Given the description of an element on the screen output the (x, y) to click on. 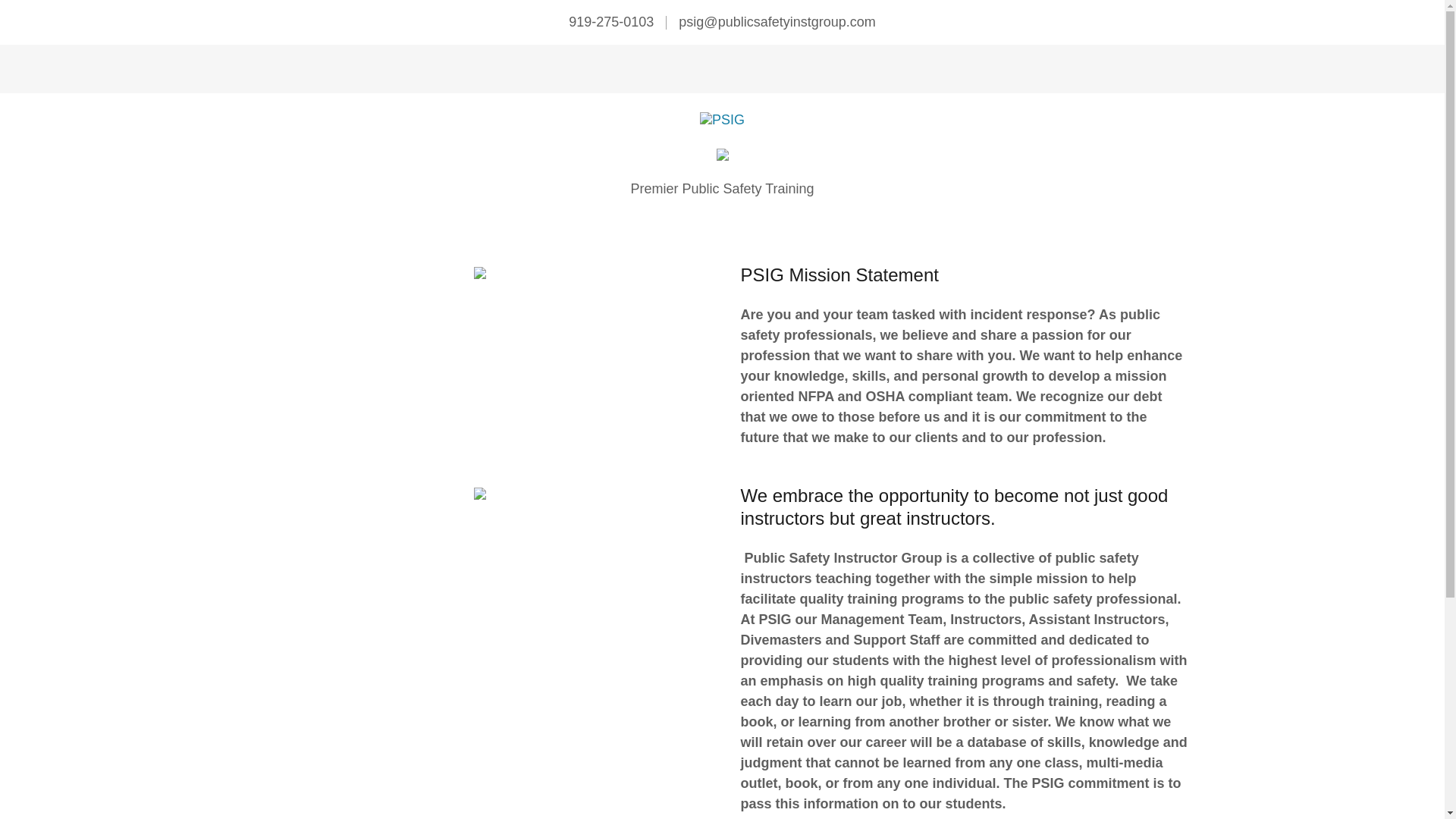
PSIG (722, 118)
